Given the description of an element on the screen output the (x, y) to click on. 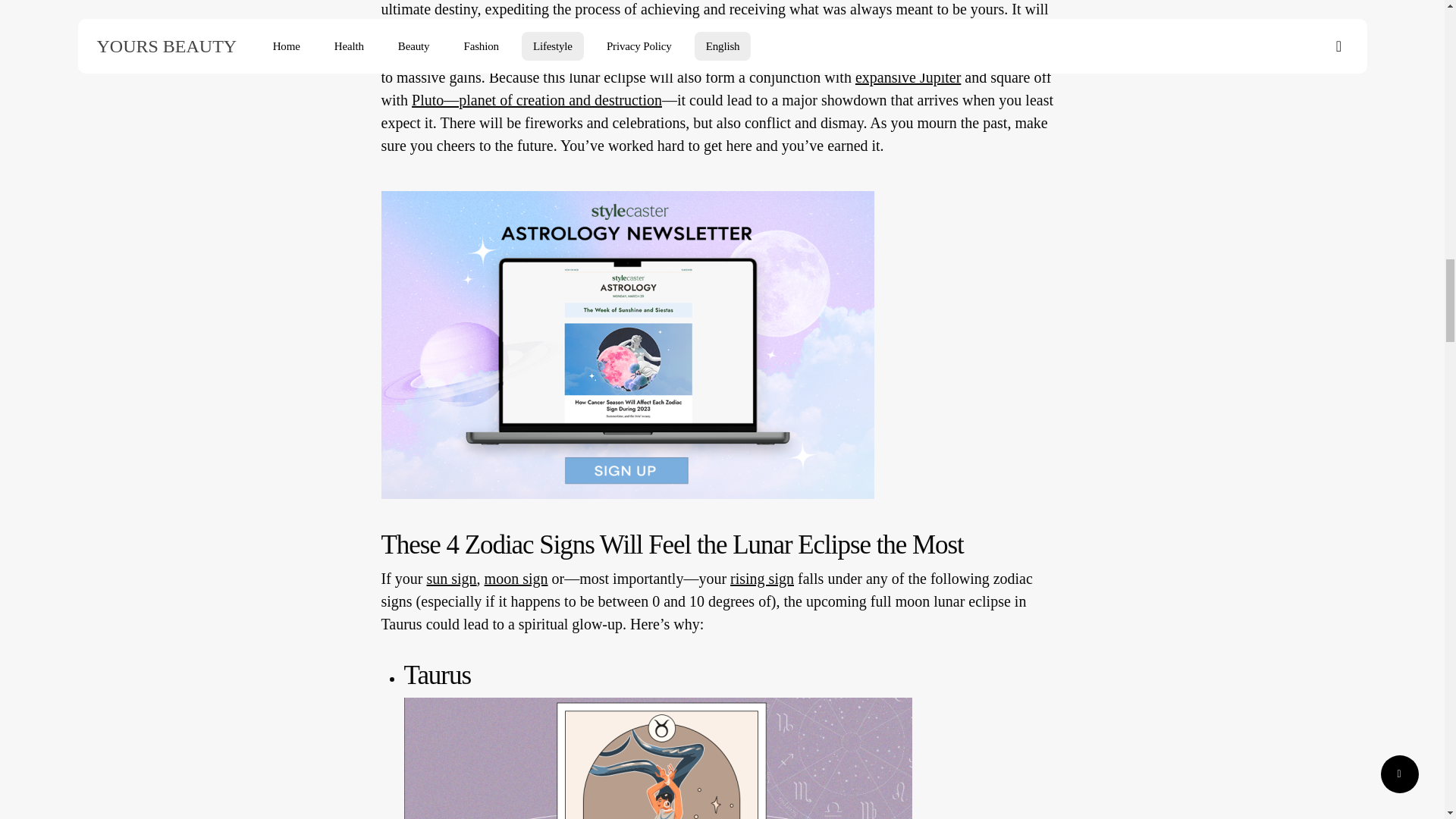
expansive Jupiter (908, 76)
sun sign (451, 578)
moon sign (516, 578)
rising sign (761, 578)
